Given the description of an element on the screen output the (x, y) to click on. 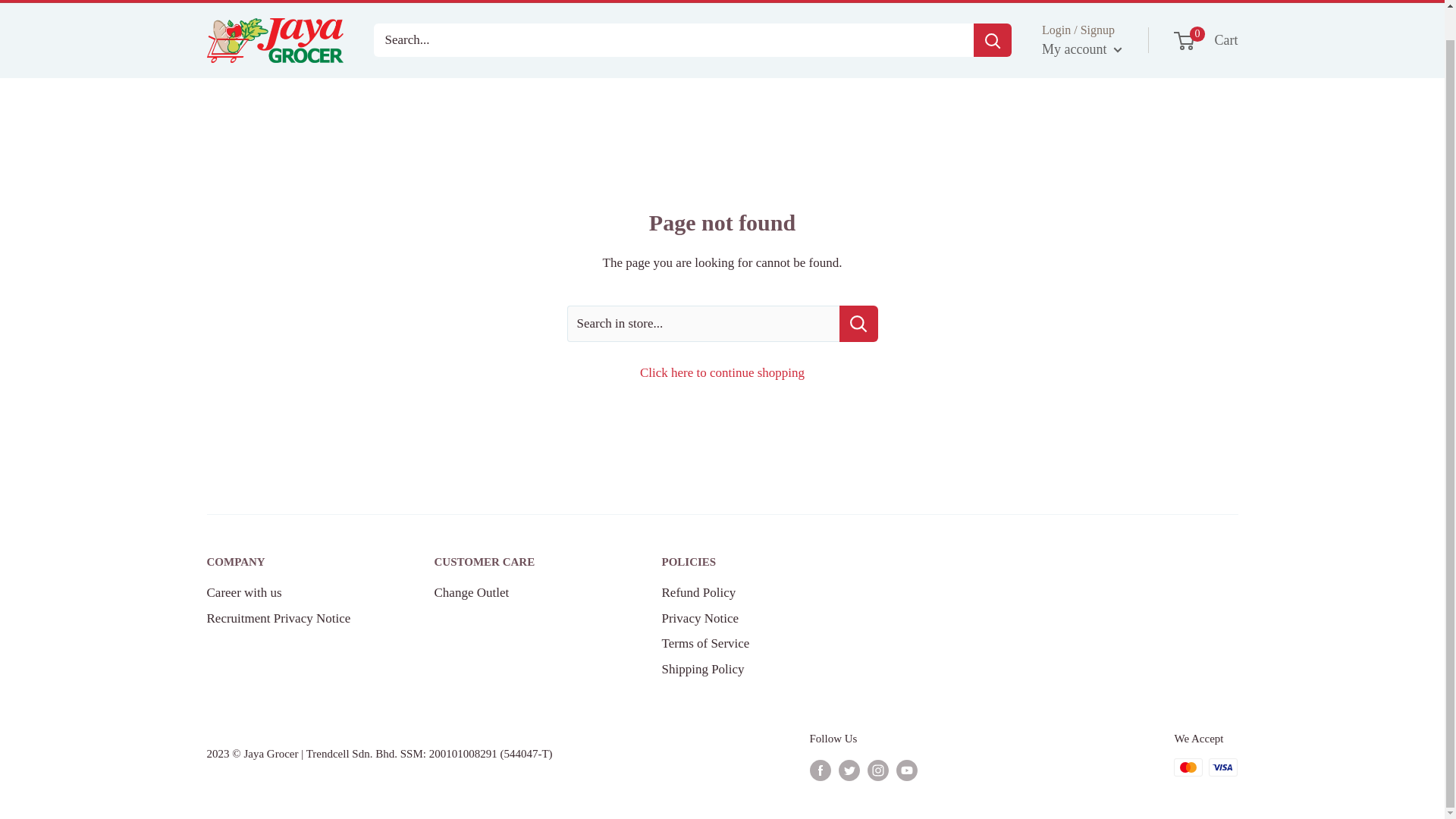
Recruitment Privacy Notice (293, 618)
COMPANY (293, 562)
CUSTOMER CARE (1206, 40)
Career with us (520, 562)
Privacy Notice (293, 592)
POLICIES (748, 618)
Refund Policy (748, 562)
Click here to continue shopping (748, 592)
Terms of Service (722, 372)
